Given the description of an element on the screen output the (x, y) to click on. 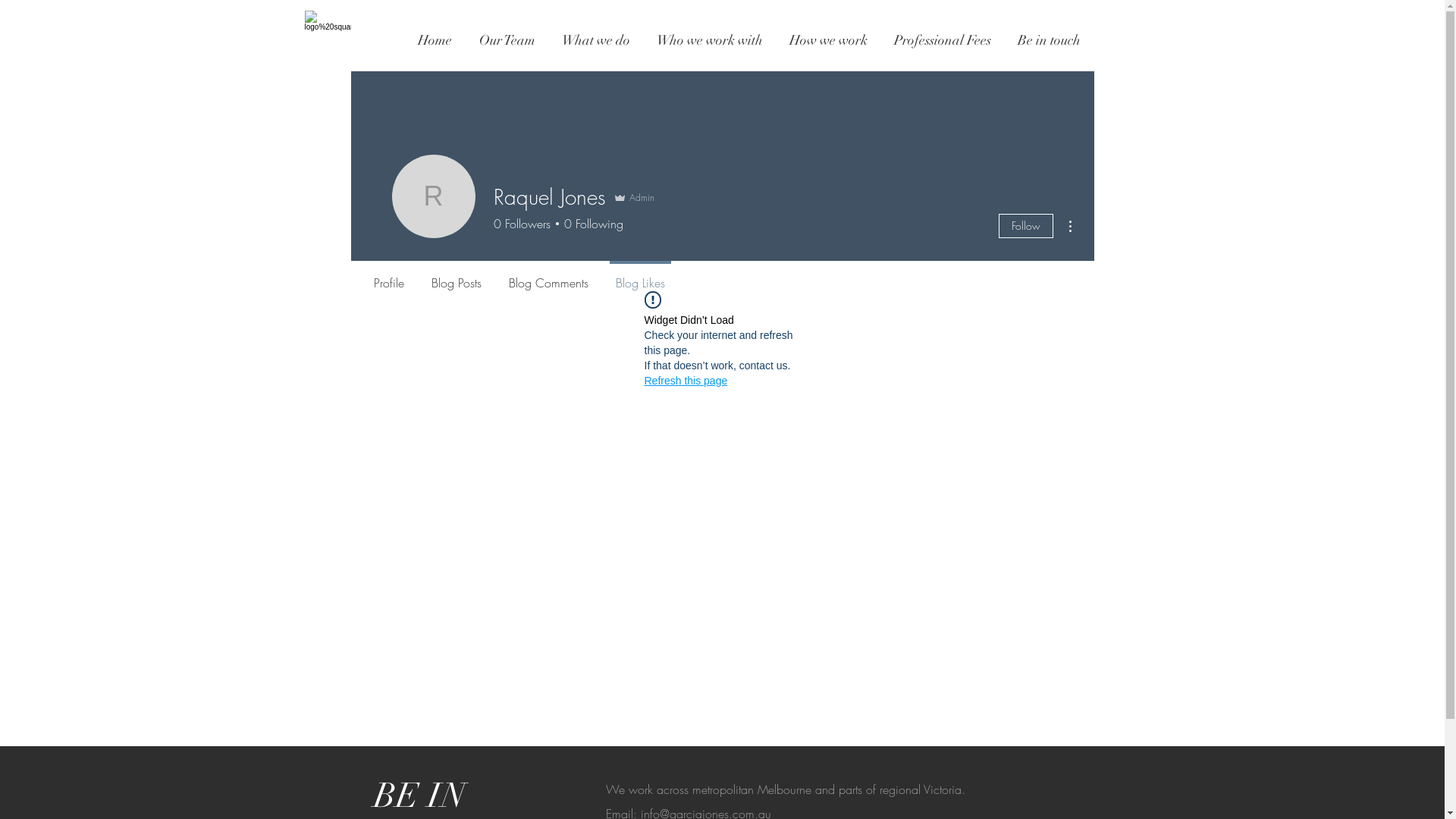
Our Team Element type: text (507, 39)
Refresh this page Element type: text (686, 380)
Be in touch Element type: text (1048, 39)
Blog Posts Element type: text (455, 275)
What we do Element type: text (596, 39)
Blog Comments Element type: text (547, 275)
Home Element type: text (433, 39)
Professional Fees Element type: text (942, 39)
Follow Element type: text (1024, 225)
Blog Likes Element type: text (640, 275)
0
Following Element type: text (590, 223)
Profile Element type: text (388, 275)
0
Followers Element type: text (520, 223)
Who we work with Element type: text (709, 39)
How we work Element type: text (828, 39)
